Given the description of an element on the screen output the (x, y) to click on. 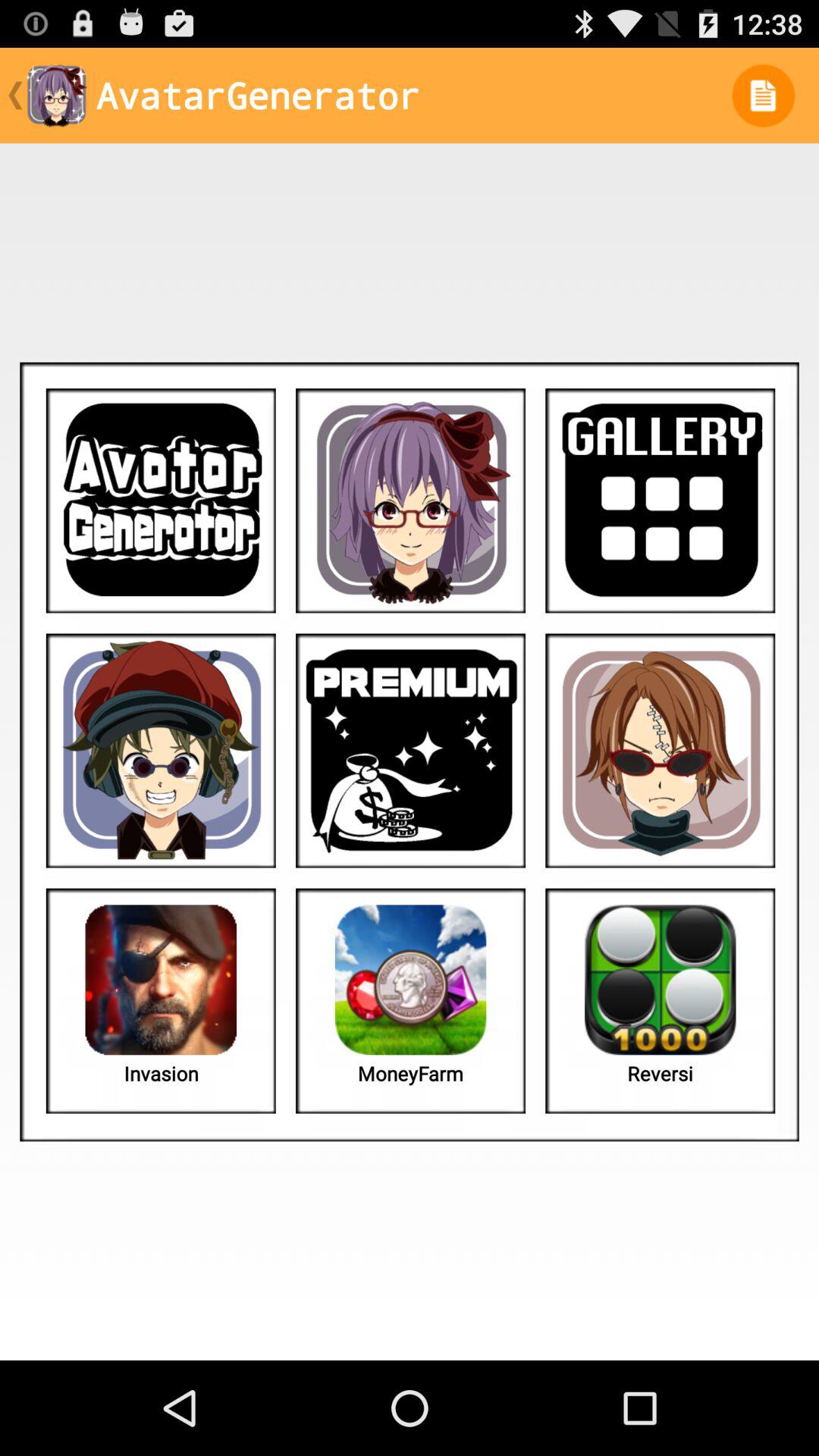
go to gallery (660, 500)
